Given the description of an element on the screen output the (x, y) to click on. 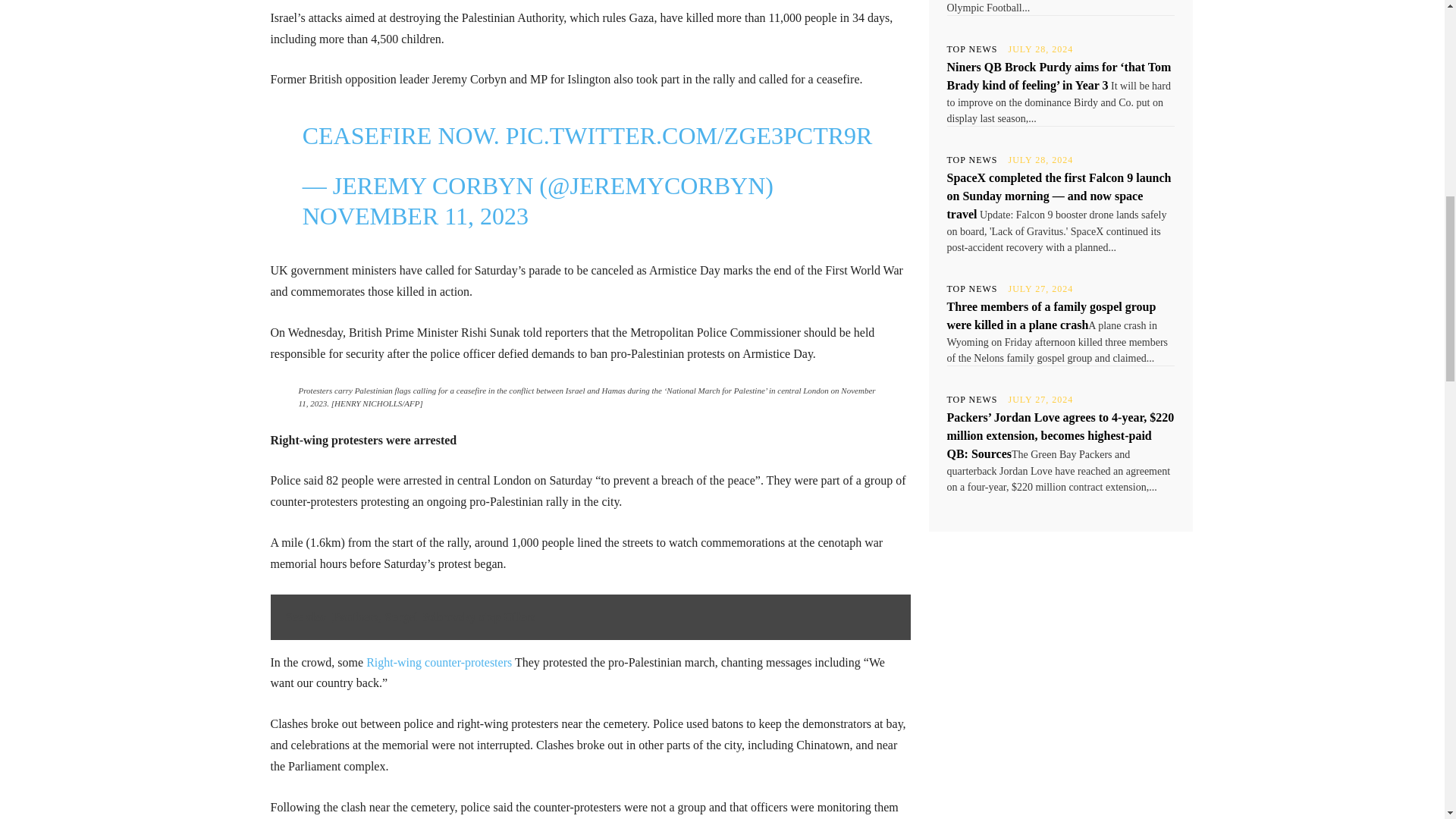
TOP NEWS (971, 49)
Right-wing counter-protesters (439, 662)
NOVEMBER 11, 2023 (415, 216)
See also  Panthers, Sergei Bobrovsky stop Oilers (589, 616)
TOP NEWS (971, 288)
TOP NEWS (971, 159)
TOP NEWS (971, 399)
